Given the description of an element on the screen output the (x, y) to click on. 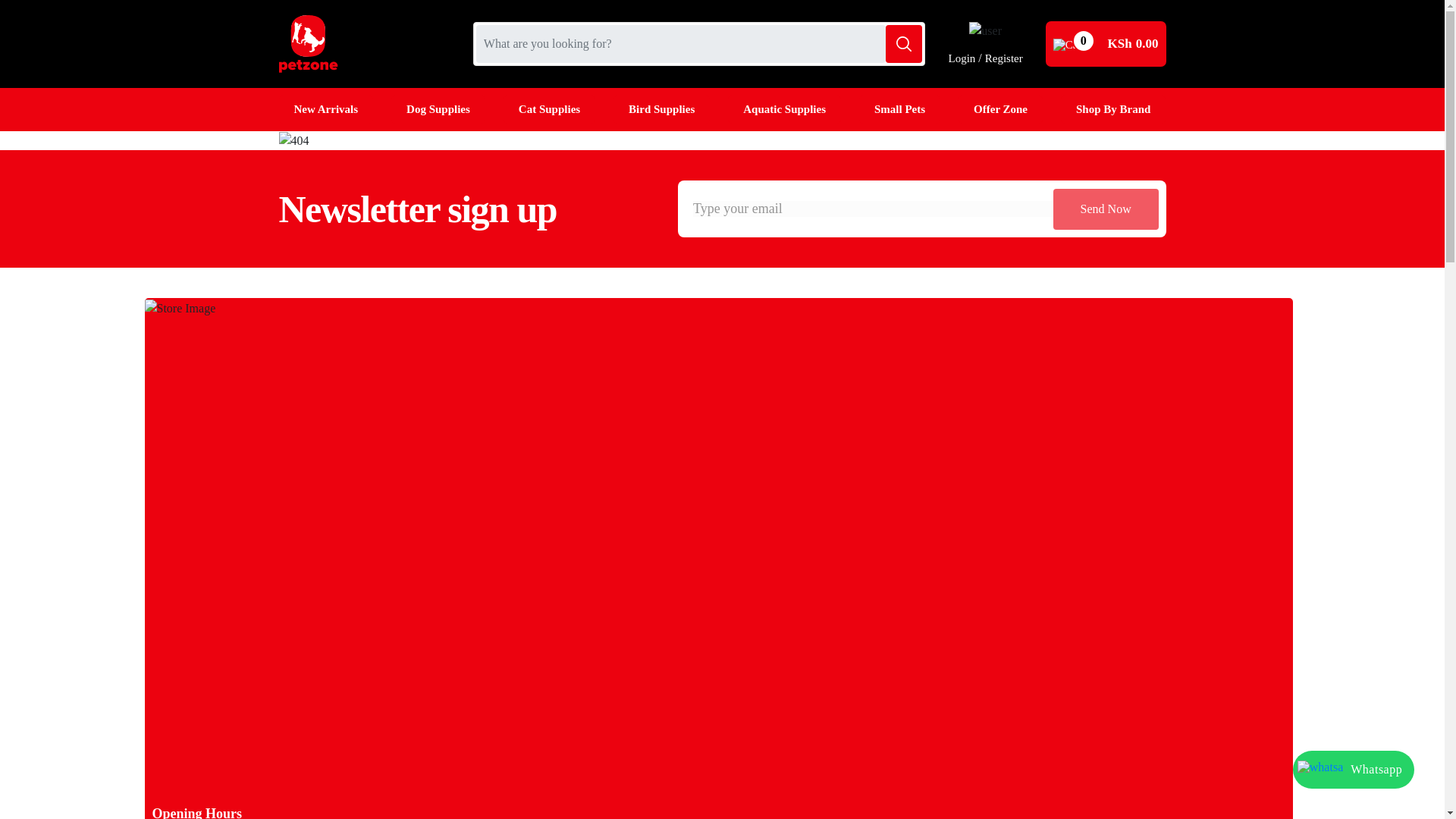
Cat Supplies (549, 109)
Bird Supplies (661, 109)
Send Now (1105, 209)
Login (961, 58)
New Arrivals (326, 109)
Register (1004, 58)
Dog Supplies (437, 109)
